Given the description of an element on the screen output the (x, y) to click on. 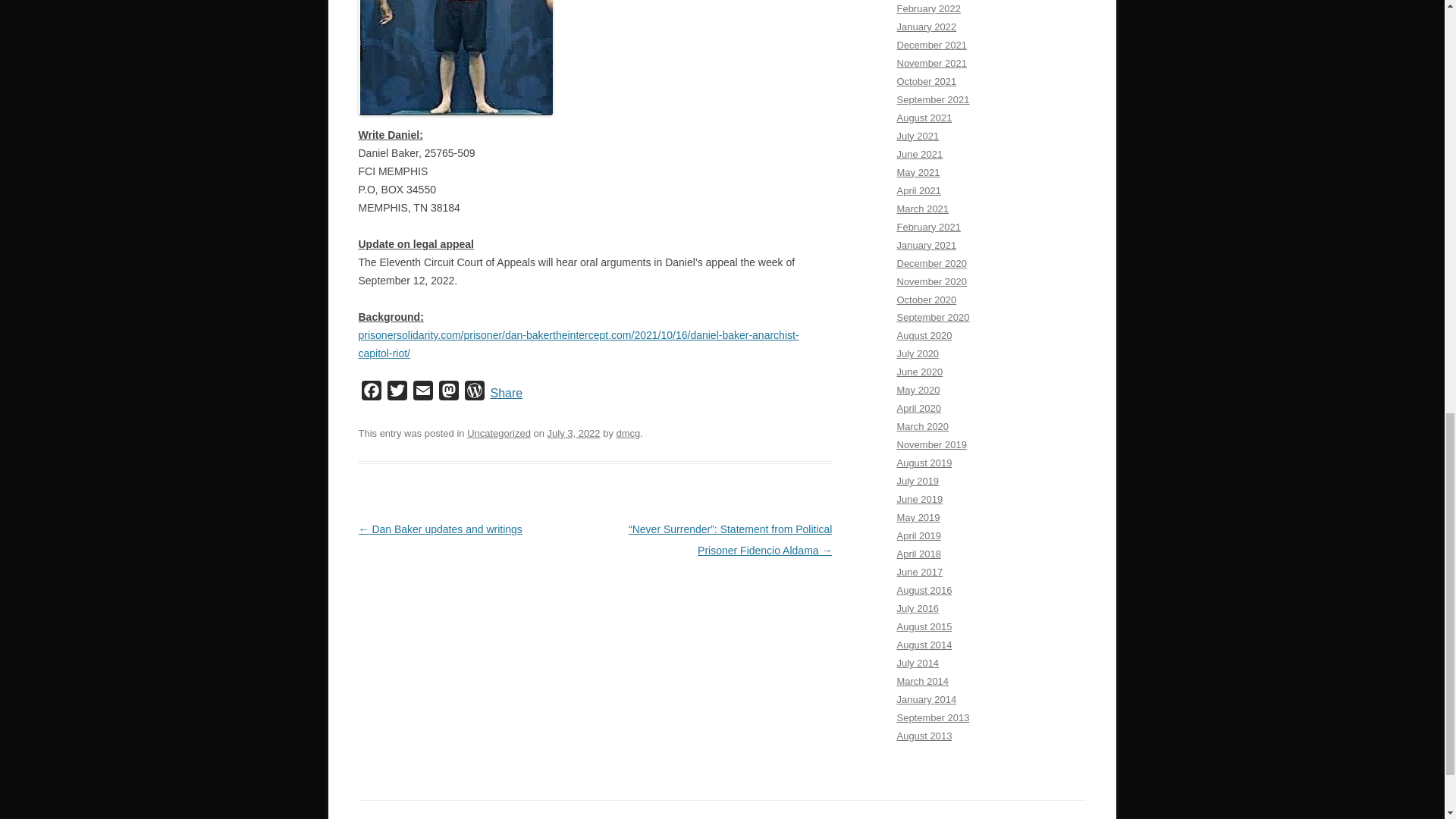
1:44 am (573, 432)
Uncategorized (499, 432)
Mastodon (448, 393)
dmcg (627, 432)
Twitter (396, 393)
WordPress (473, 393)
Share (505, 393)
WordPress (473, 393)
Twitter (396, 393)
July 3, 2022 (573, 432)
Facebook (371, 393)
Email (422, 393)
Email (422, 393)
View all posts by dmcg (627, 432)
Facebook (371, 393)
